Given the description of an element on the screen output the (x, y) to click on. 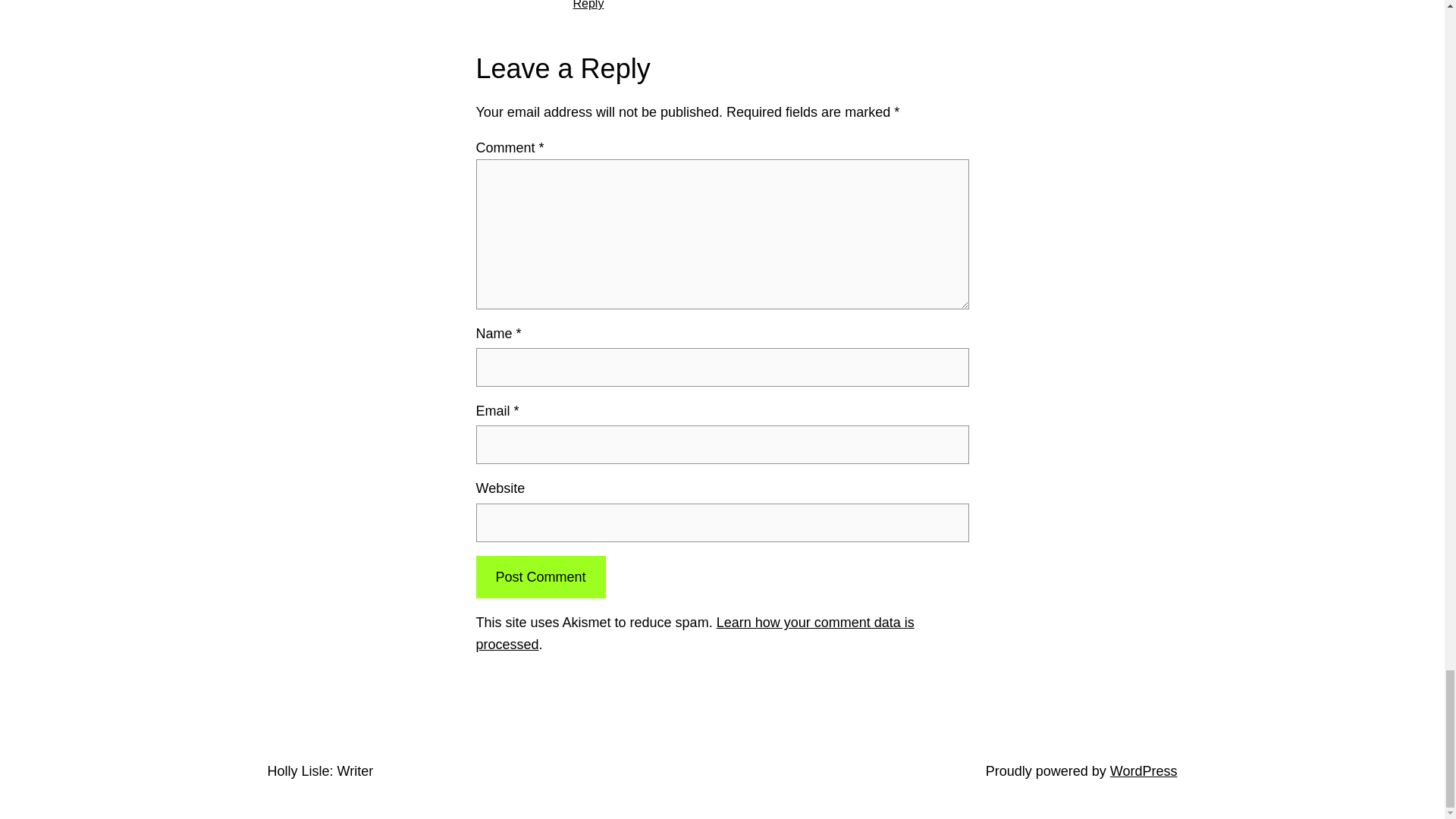
Learn how your comment data is processed (695, 633)
WordPress (1143, 770)
Post Comment (540, 577)
Post Comment (540, 577)
Reply (588, 4)
Holly Lisle: Writer (319, 770)
